Given the description of an element on the screen output the (x, y) to click on. 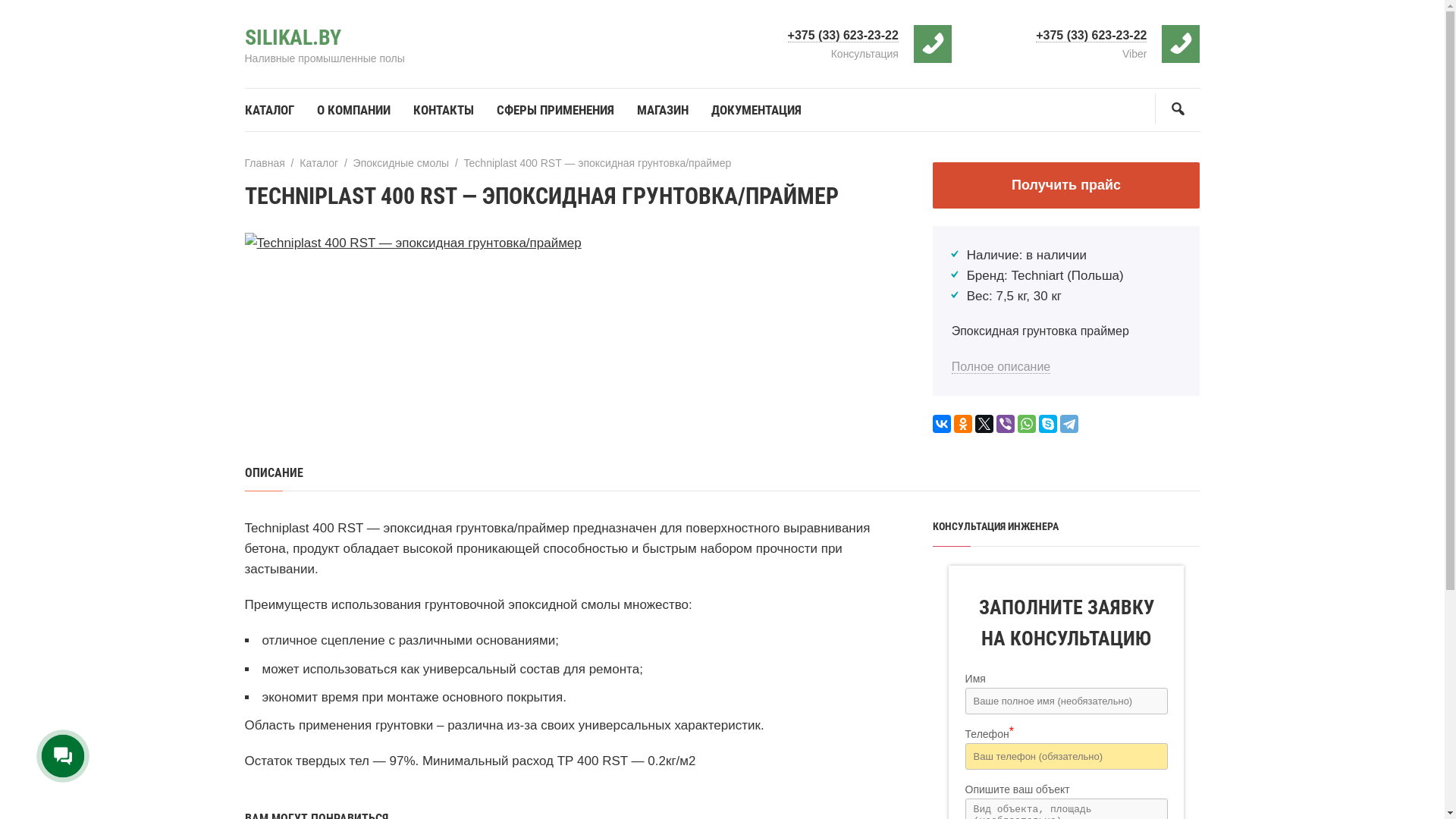
Viber Element type: hover (1005, 423)
+375 (33) 623-23-22 Element type: text (1090, 35)
+375 (33) 623-23-22 Element type: text (842, 35)
Telegram Element type: hover (1069, 423)
Skype Element type: hover (1047, 423)
SILIKAL.BY Element type: text (292, 37)
Twitter Element type: hover (984, 423)
WhatsApp Element type: hover (1026, 423)
